Given the description of an element on the screen output the (x, y) to click on. 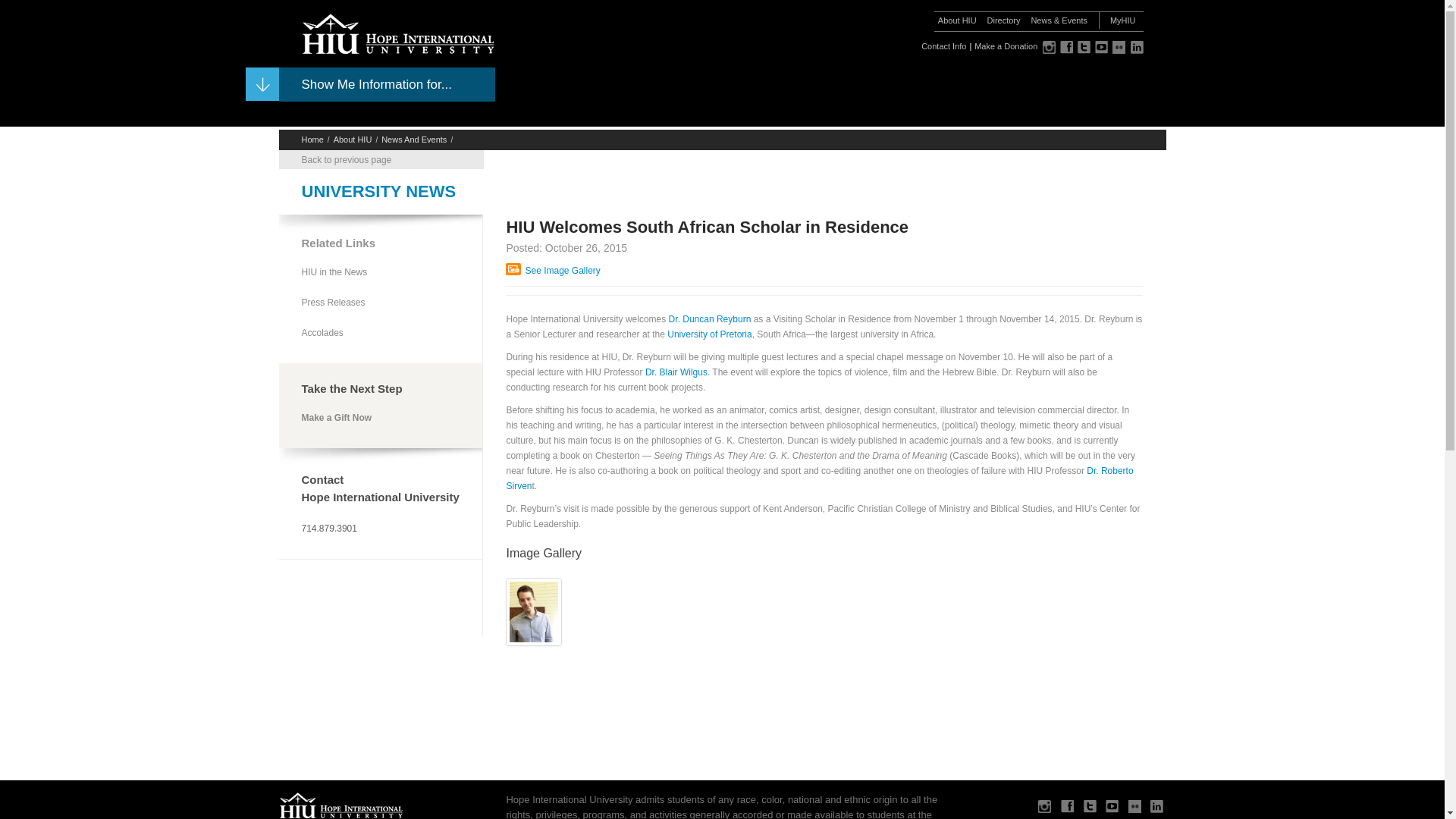
Show Me Information for... (365, 83)
Make a Donation (1005, 45)
Contact Info (943, 45)
Directory (1003, 20)
About HIU (956, 20)
MyHIU (1122, 20)
Hope International University (387, 33)
